Given the description of an element on the screen output the (x, y) to click on. 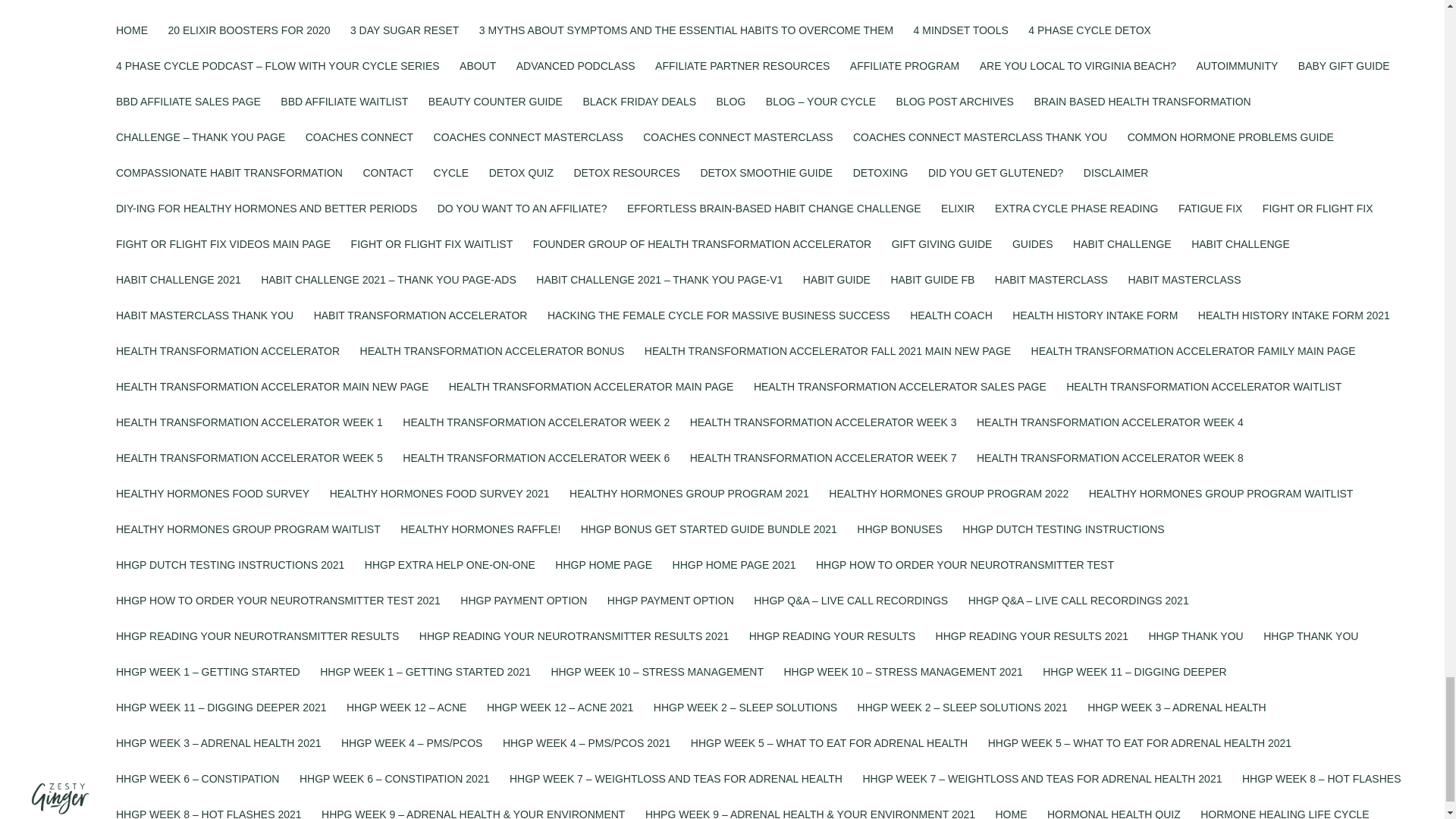
Submit Comment (841, 547)
